Given the description of an element on the screen output the (x, y) to click on. 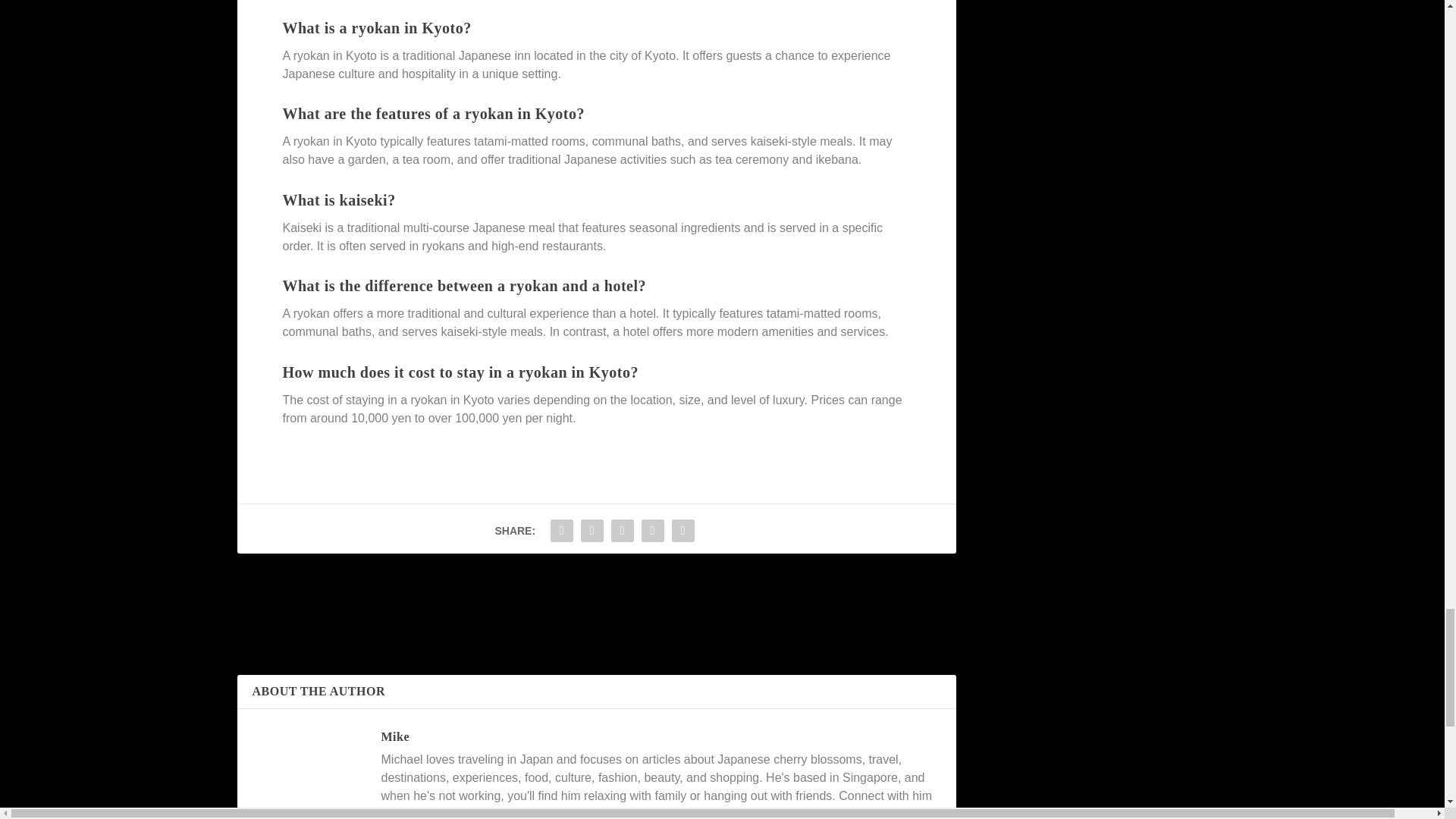
View all posts by Mike (394, 735)
Mike (394, 735)
